Given the description of an element on the screen output the (x, y) to click on. 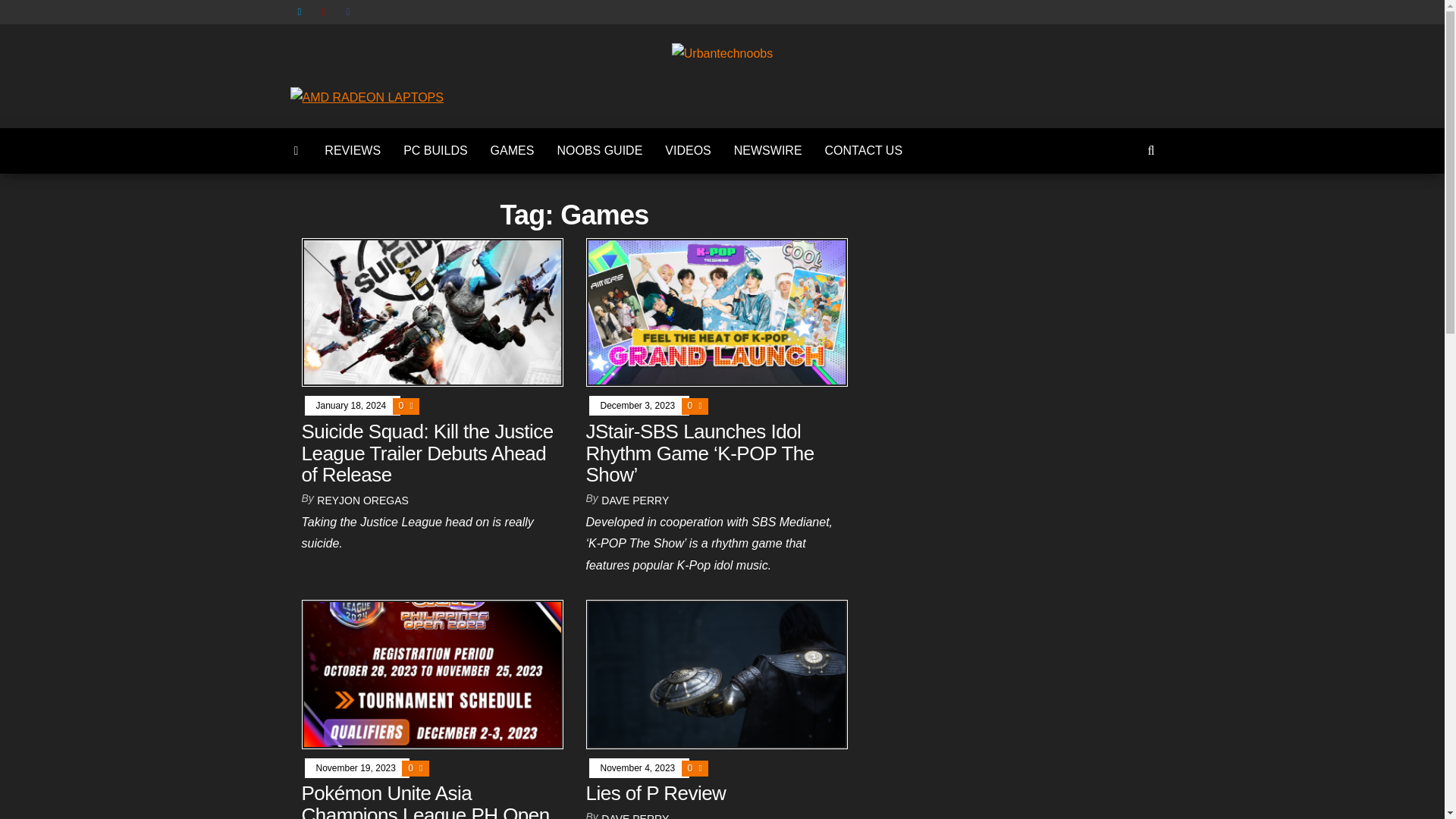
CONTACT US (863, 150)
Noobs Guide (598, 150)
Games (512, 150)
PC BUILDS (435, 150)
VIDEOS (687, 150)
NOOBS GUIDE (598, 150)
YOUTUBE (325, 12)
PC Builds (435, 150)
FACEBOOK (349, 12)
